Given the description of an element on the screen output the (x, y) to click on. 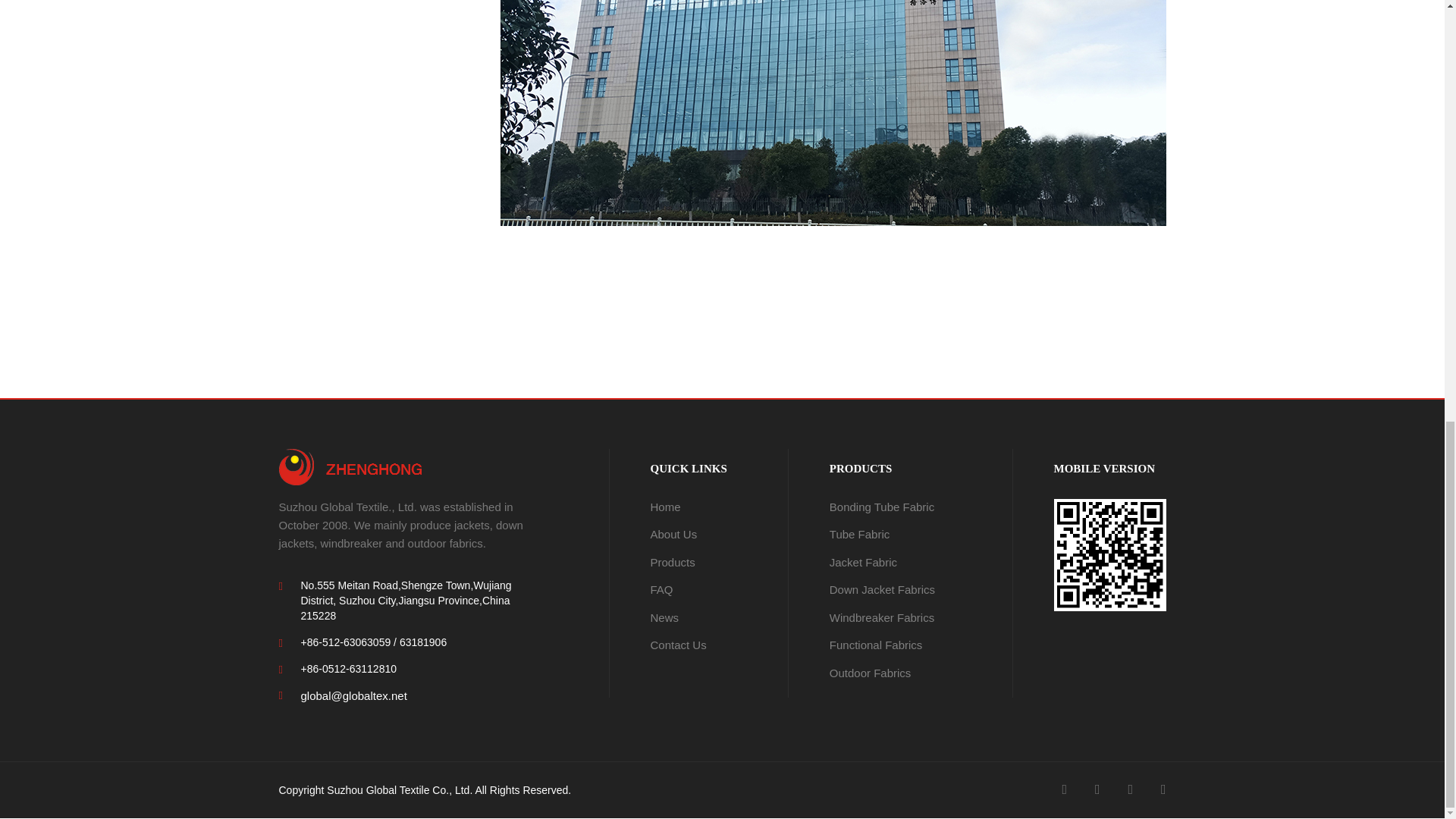
About Us (673, 533)
FAQ (661, 589)
Home (665, 506)
Products (672, 562)
